Given the description of an element on the screen output the (x, y) to click on. 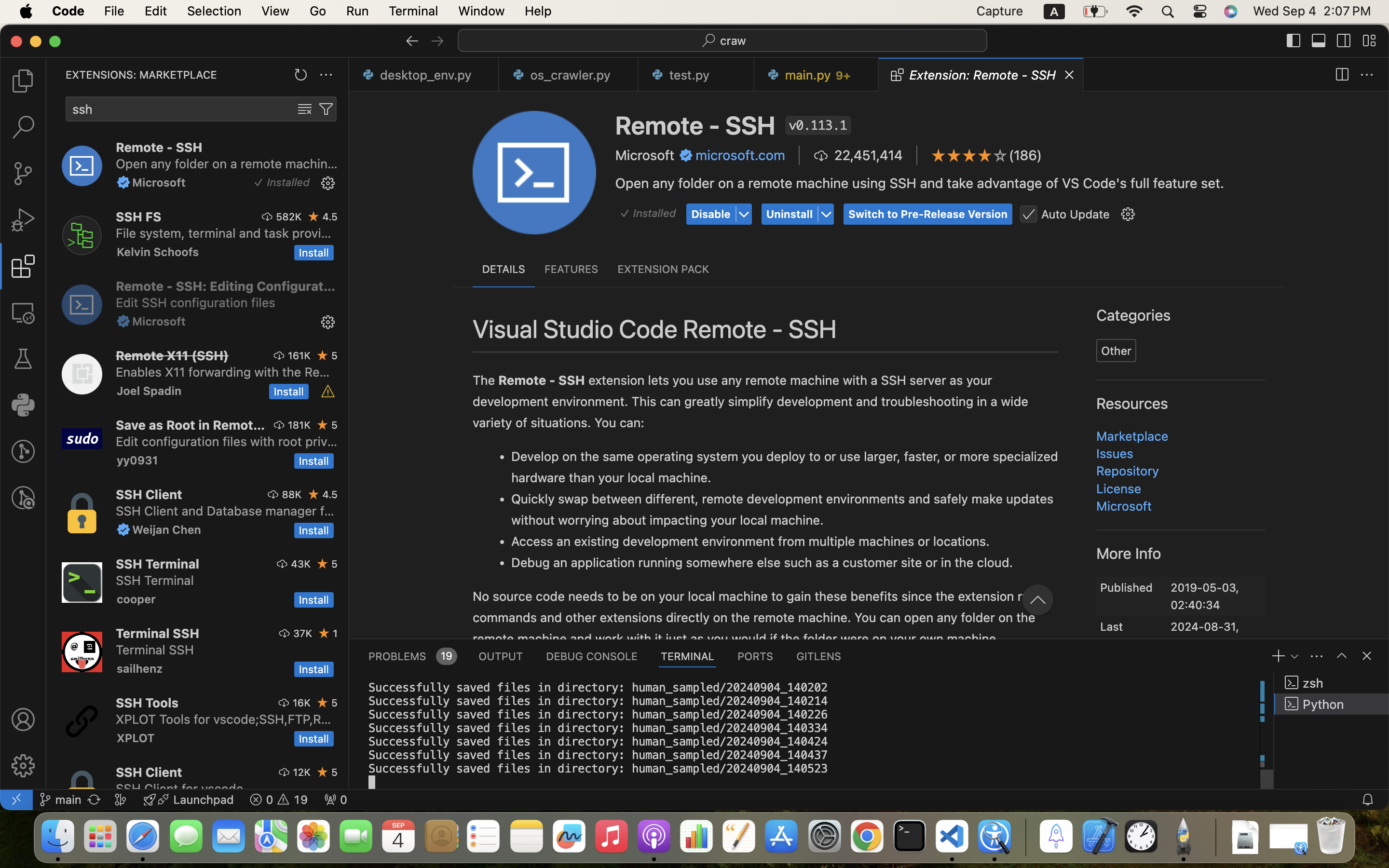
SSH Tools Element type: AXStaticText (147, 702)
 Element type: AXButton (437, 40)
181K Element type: AXStaticText (298, 424)
0.4285714328289032 Element type: AXDockItem (1024, 836)
Weijan Chen Element type: AXStaticText (166, 529)
